Given the description of an element on the screen output the (x, y) to click on. 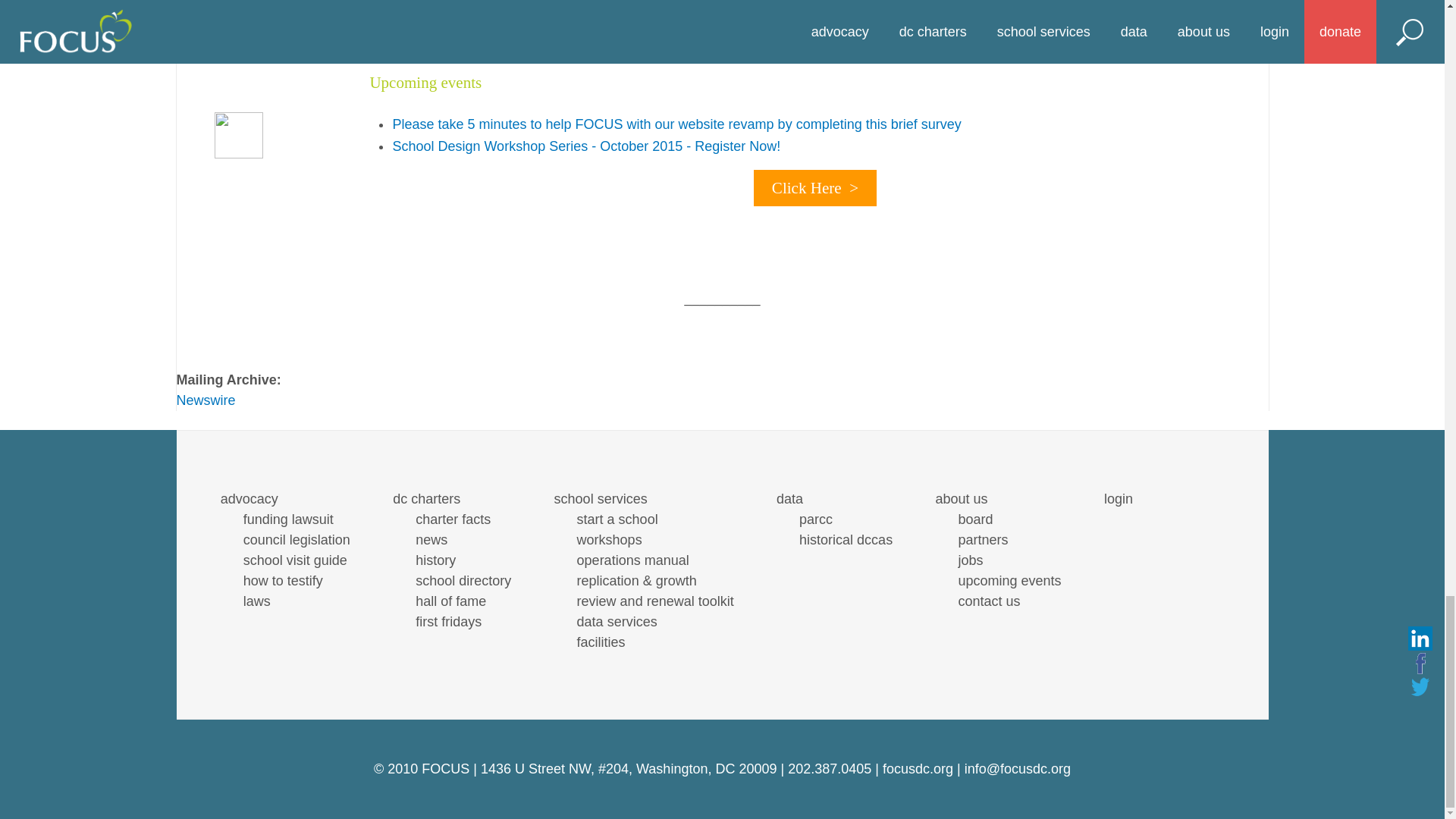
School Design Workshop Series - October 2015 - Register Now! (585, 145)
Newswire (205, 399)
